Given the description of an element on the screen output the (x, y) to click on. 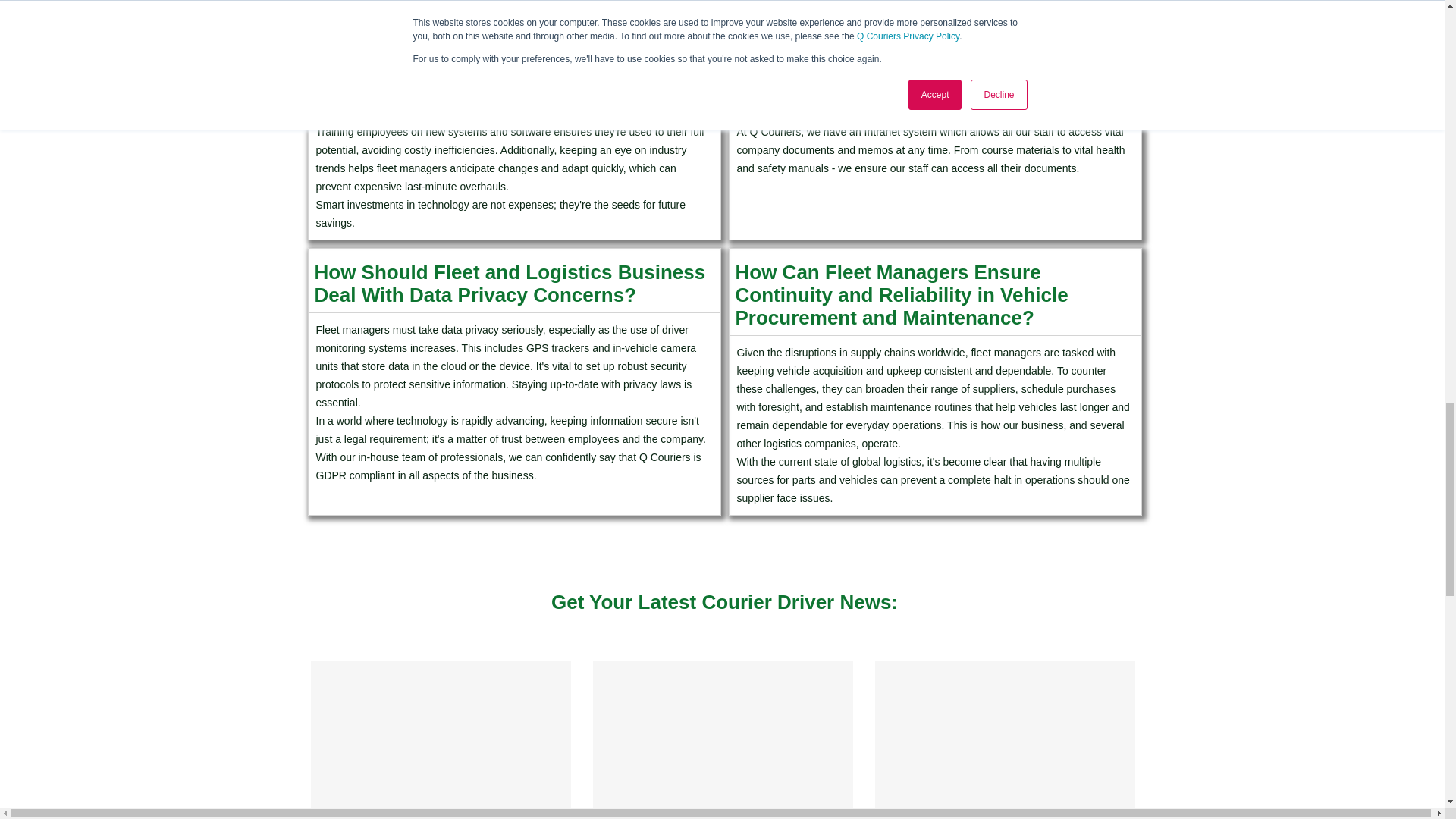
Fleet Management Software of 2024 10 (1005, 739)
Fleet Management Software of 2024 9 (722, 739)
Fleet Management Software of 2024 8 (440, 739)
